Given the description of an element on the screen output the (x, y) to click on. 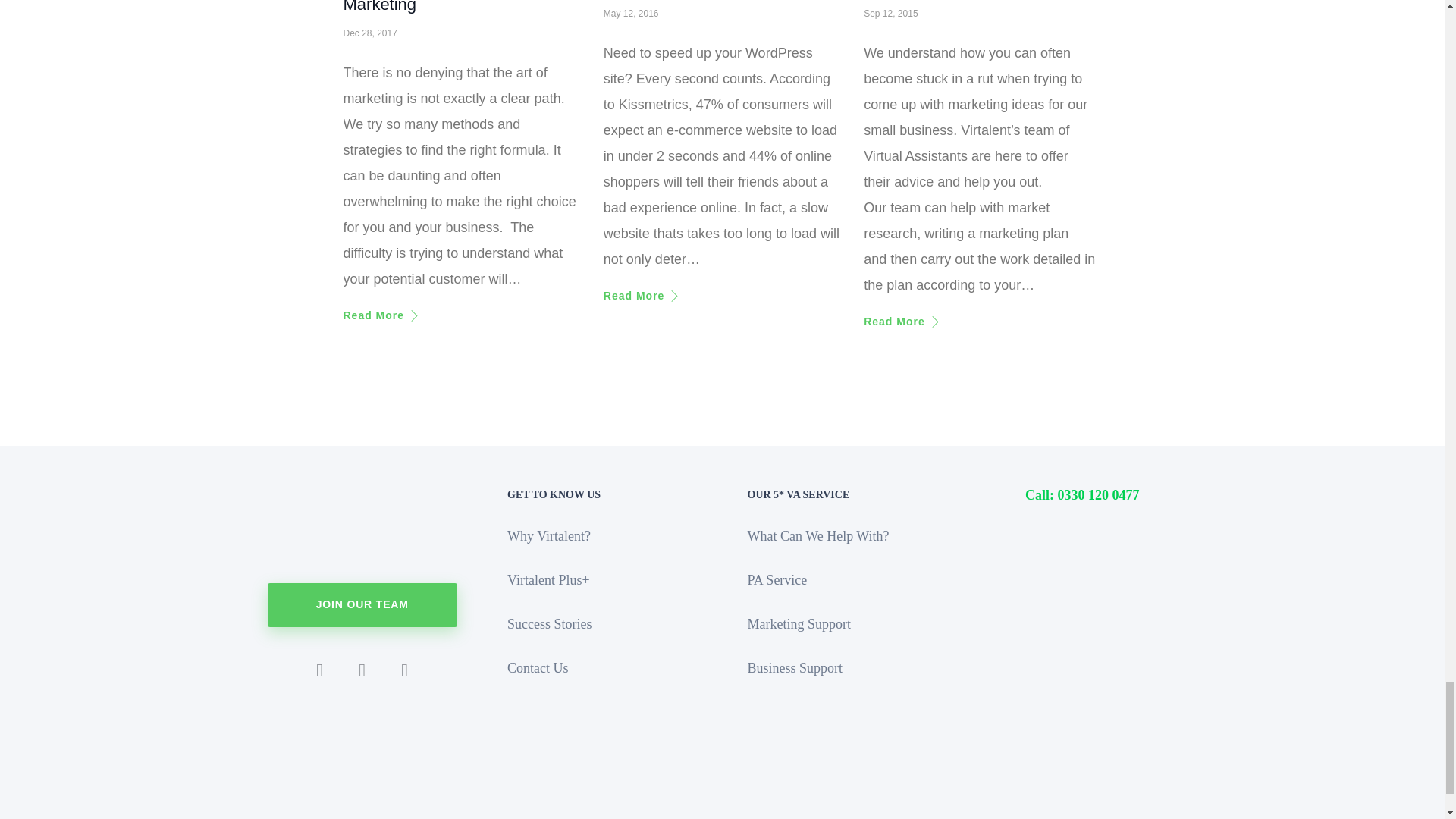
Follow on LinkedIn (319, 669)
Follow on Facebook (361, 669)
titan (1105, 800)
Follow on Twitter (405, 669)
Cyber-Essentials (721, 811)
